Given the description of an element on the screen output the (x, y) to click on. 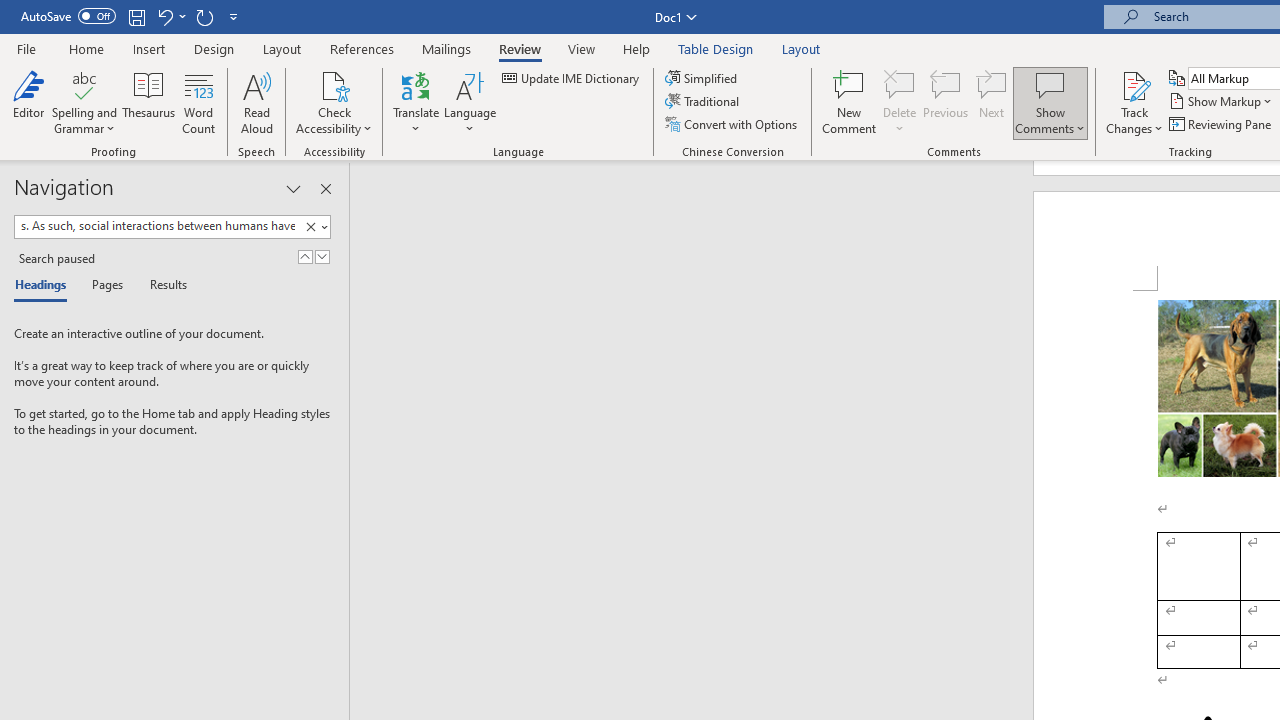
New Comment (849, 102)
Show Comments (1050, 84)
Clear (314, 227)
Repeat Style (204, 15)
Language (470, 102)
Translate (415, 102)
Update IME Dictionary... (572, 78)
Read Aloud (256, 102)
